Given the description of an element on the screen output the (x, y) to click on. 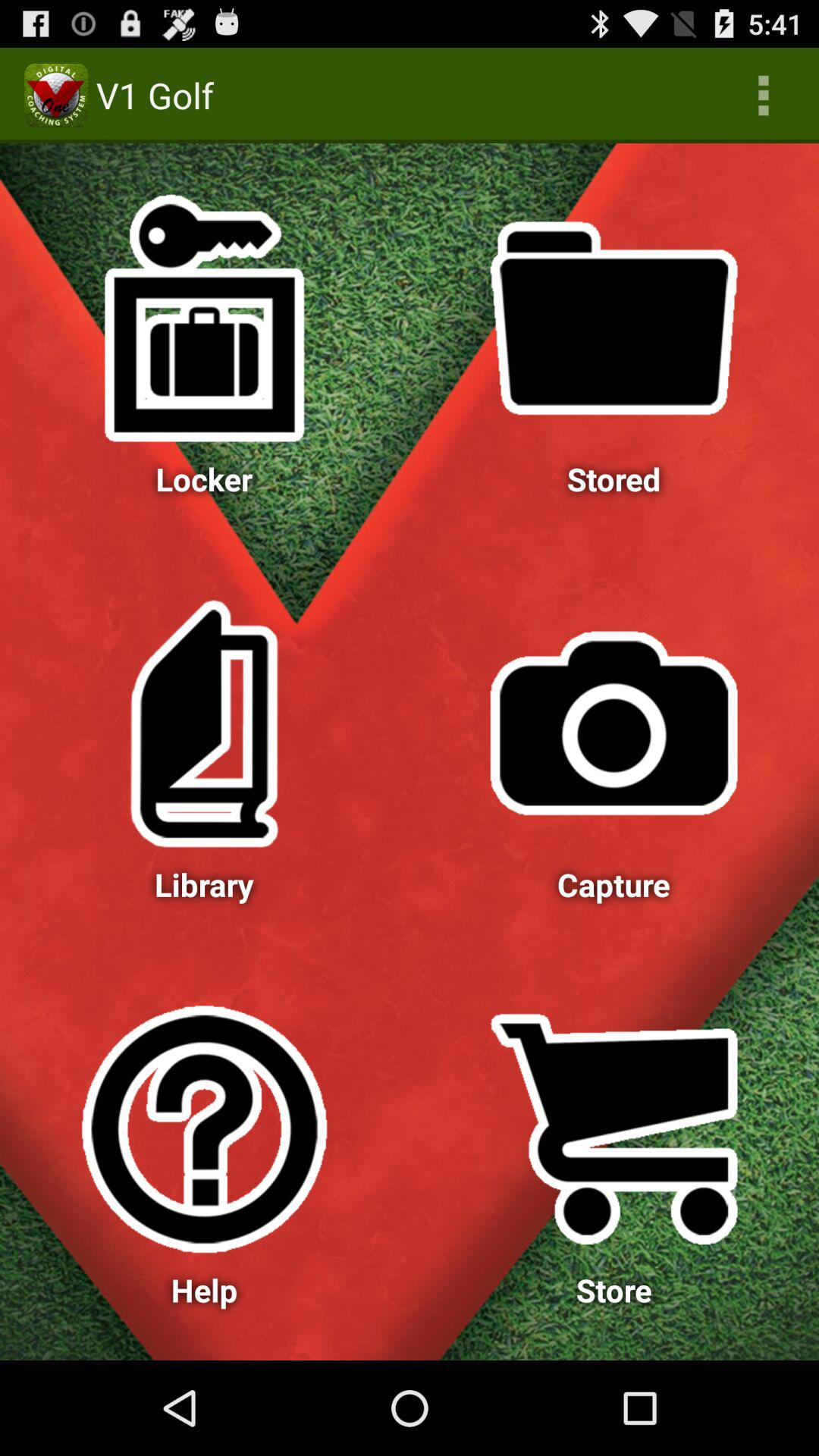
go to top of store (613, 1128)
click on the capture icon (613, 724)
click on the icon which is above locker (204, 318)
select the folder icon which is above stored on the page (613, 318)
